Given the description of an element on the screen output the (x, y) to click on. 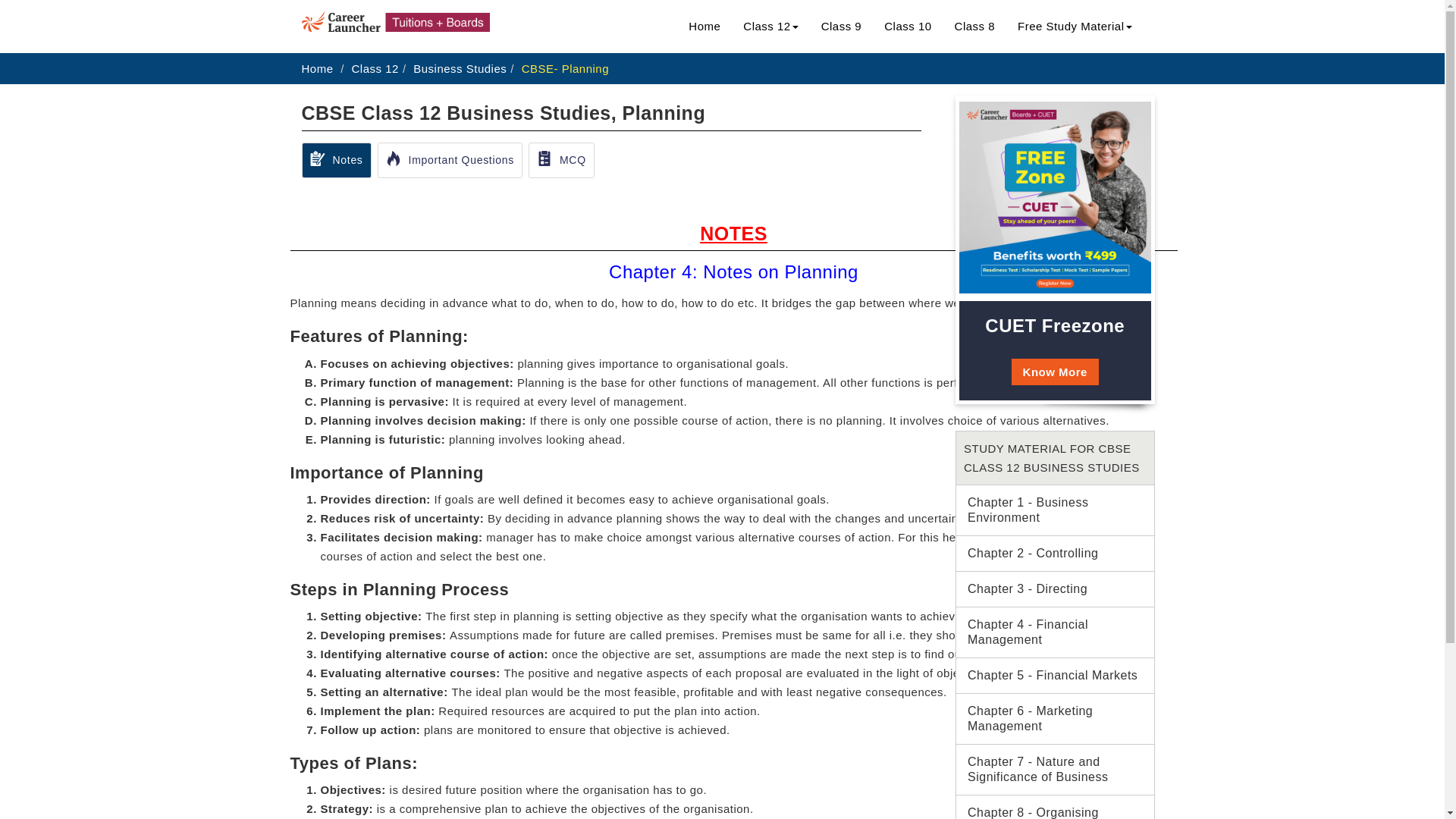
Chapter 4 - Financial Management (1055, 632)
Business Studies (459, 68)
Chapter 3 - Directing (1055, 588)
Class 8 (975, 26)
Chapter 6 - Marketing Management (1055, 718)
Class 12 (375, 68)
Home (704, 26)
Home (317, 68)
Chapter 2 - Controlling (1055, 553)
Chapter 8 - Organising (1055, 807)
Class 10 (907, 26)
Free Study Material (1074, 26)
Important Questions (449, 160)
Know More (1055, 371)
Notes (336, 160)
